Given the description of an element on the screen output the (x, y) to click on. 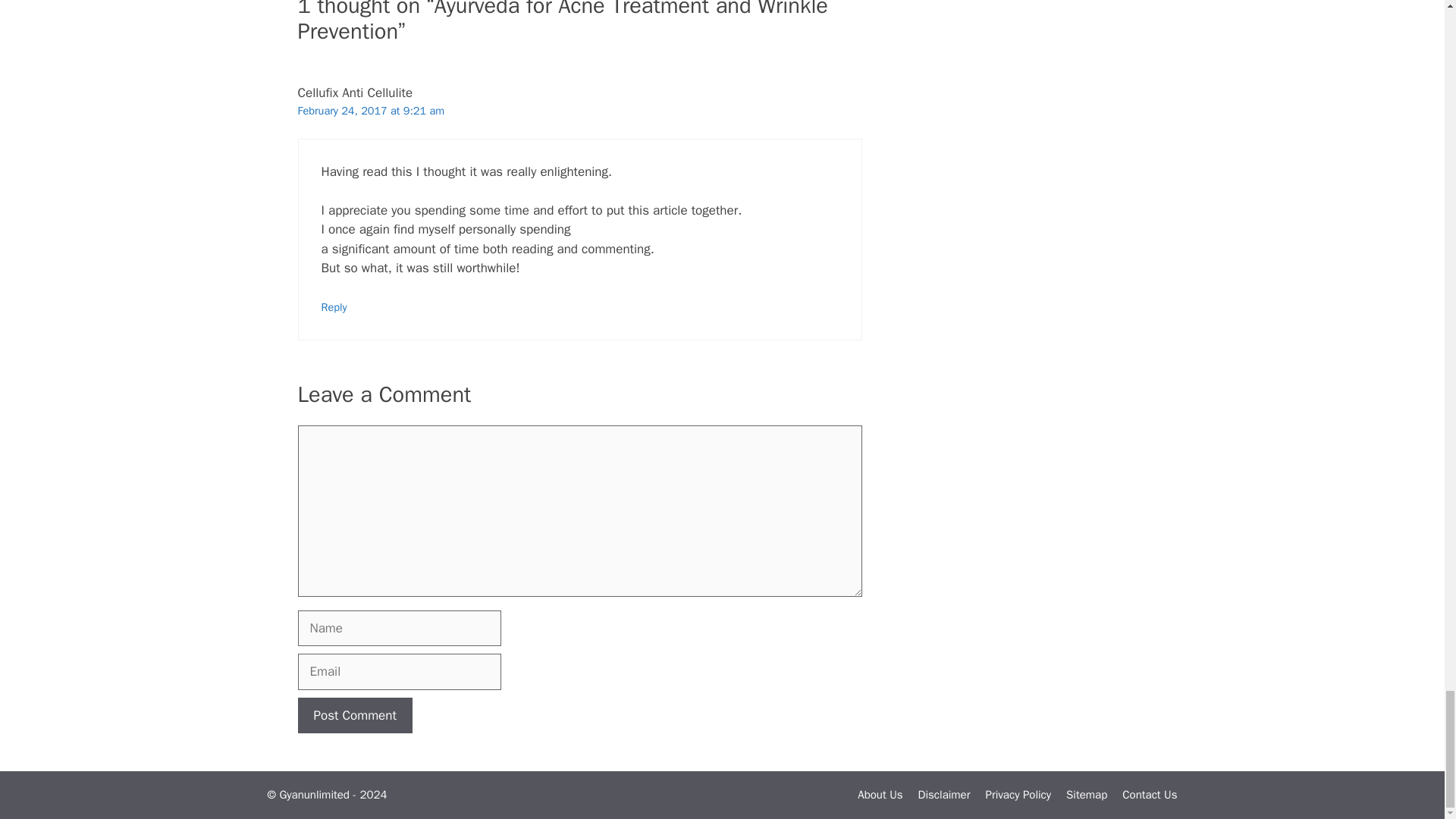
Post Comment (354, 715)
